Given the description of an element on the screen output the (x, y) to click on. 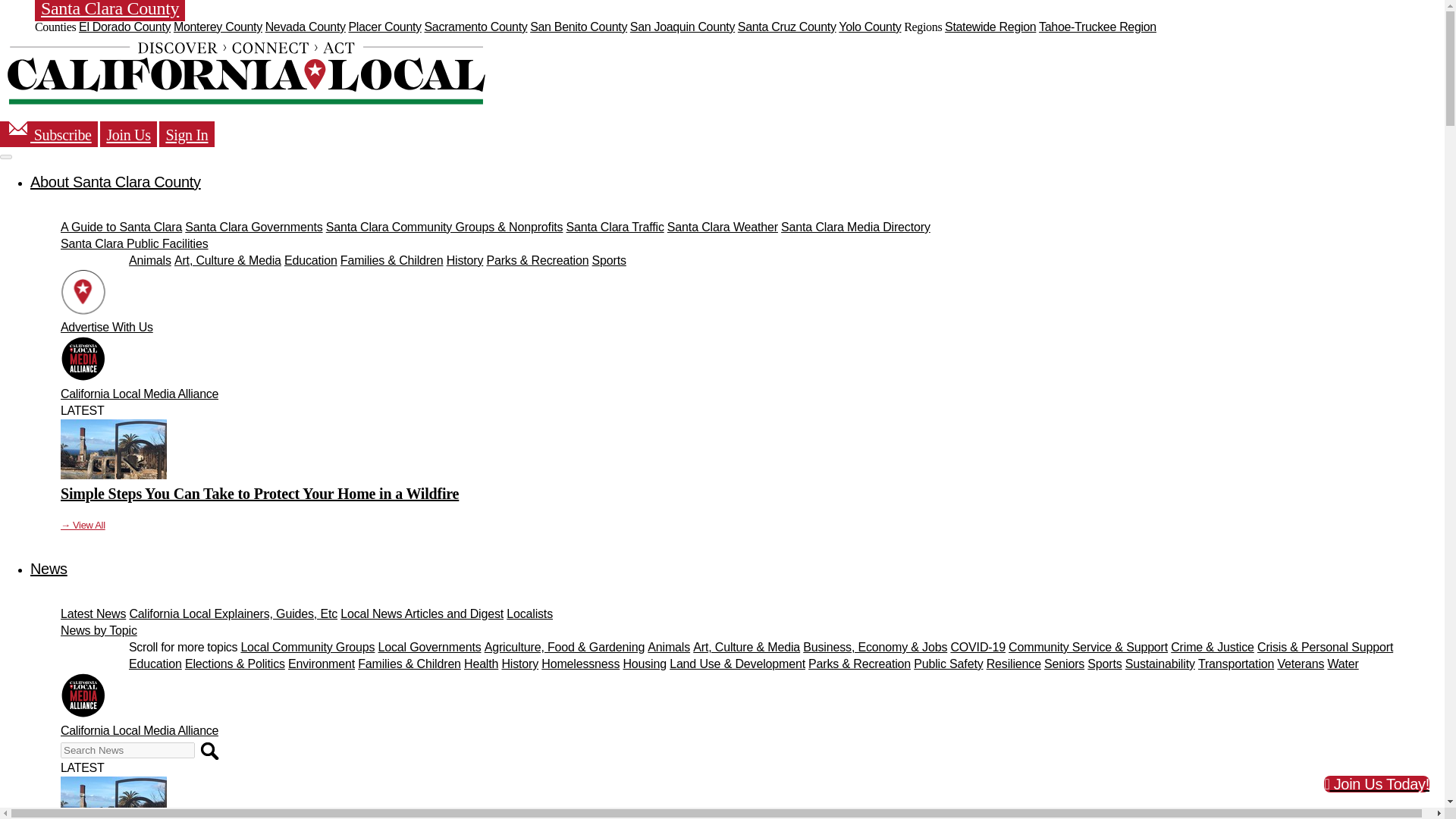
Santa Clara Weather (721, 226)
A Guide to Santa Clara (121, 226)
All about Santa Clara. (115, 181)
Local news and information for and about Santa Clara. (48, 568)
California Local Media Alliance (139, 393)
Santa Clara County (109, 10)
Animals (150, 259)
History (464, 259)
Santa Clara Public Facilities (134, 243)
Yolo County (869, 26)
Advertise With Us (106, 327)
List local news items by topic. (98, 630)
Placer County (383, 26)
El Dorado County (124, 26)
Click to return to the current county overview. (246, 73)
